Given the description of an element on the screen output the (x, y) to click on. 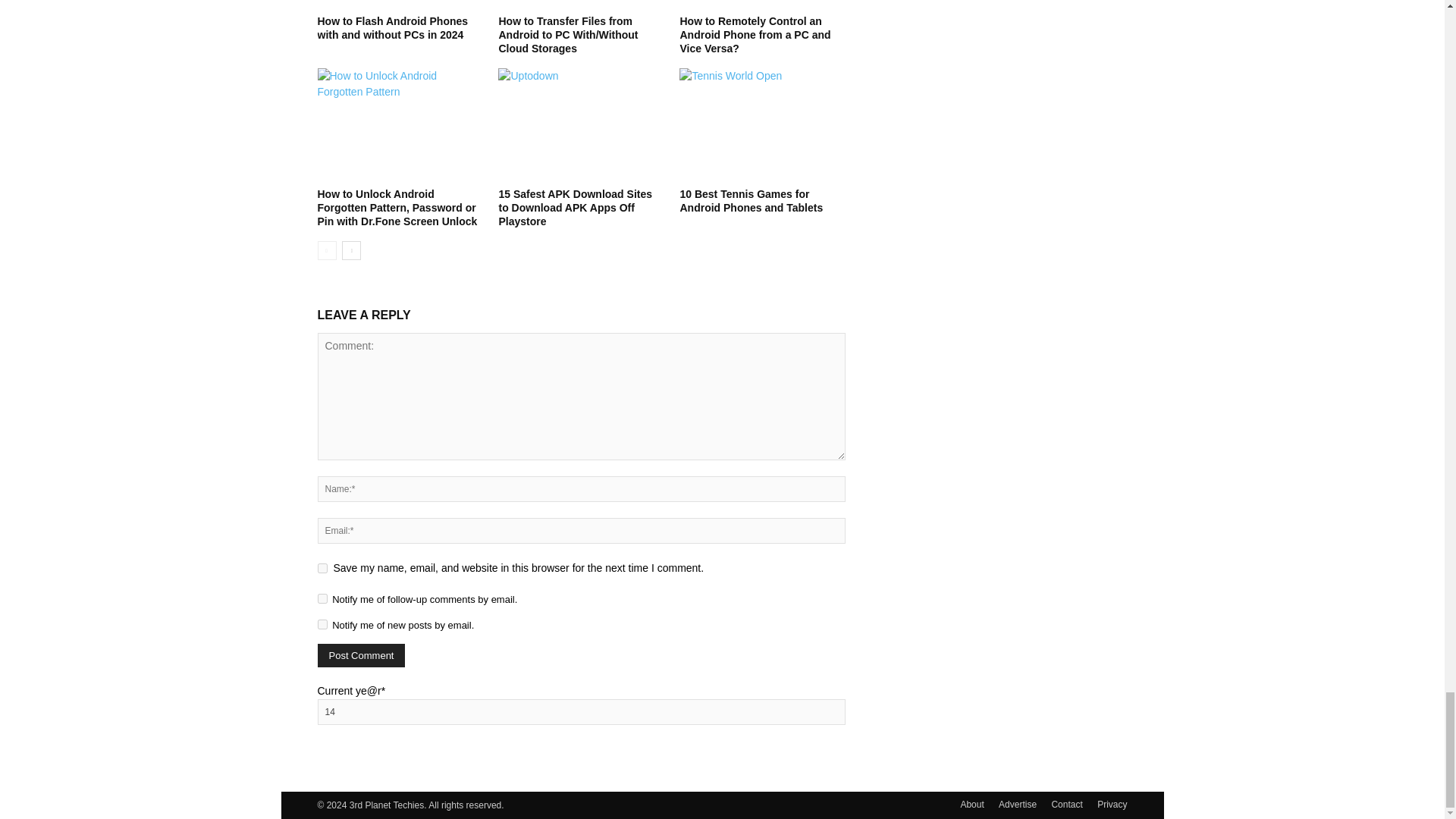
14 (580, 711)
subscribe (321, 598)
subscribe (321, 624)
yes (321, 568)
Post Comment (360, 655)
